Given the description of an element on the screen output the (x, y) to click on. 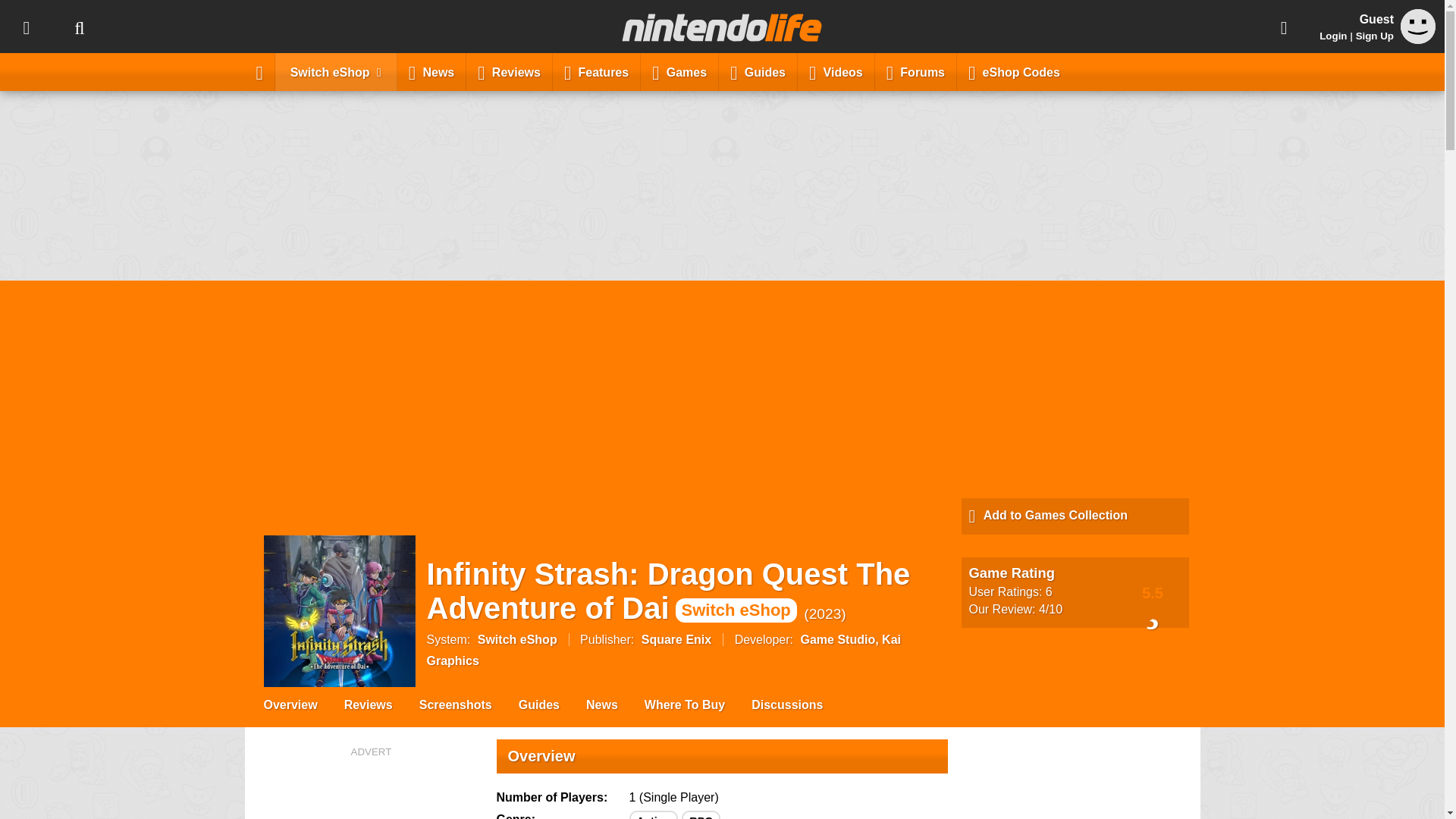
Forums (915, 71)
Nintendo Life (721, 27)
Games (679, 71)
Features (596, 71)
Topics (26, 26)
Guest (1417, 26)
Login (1332, 35)
Switch eShop (336, 71)
News (431, 71)
eShop Codes (1013, 71)
Share This Page (1283, 26)
Search (79, 26)
Sign Up (1374, 35)
Guest (1417, 39)
Nintendo Life (721, 27)
